Given the description of an element on the screen output the (x, y) to click on. 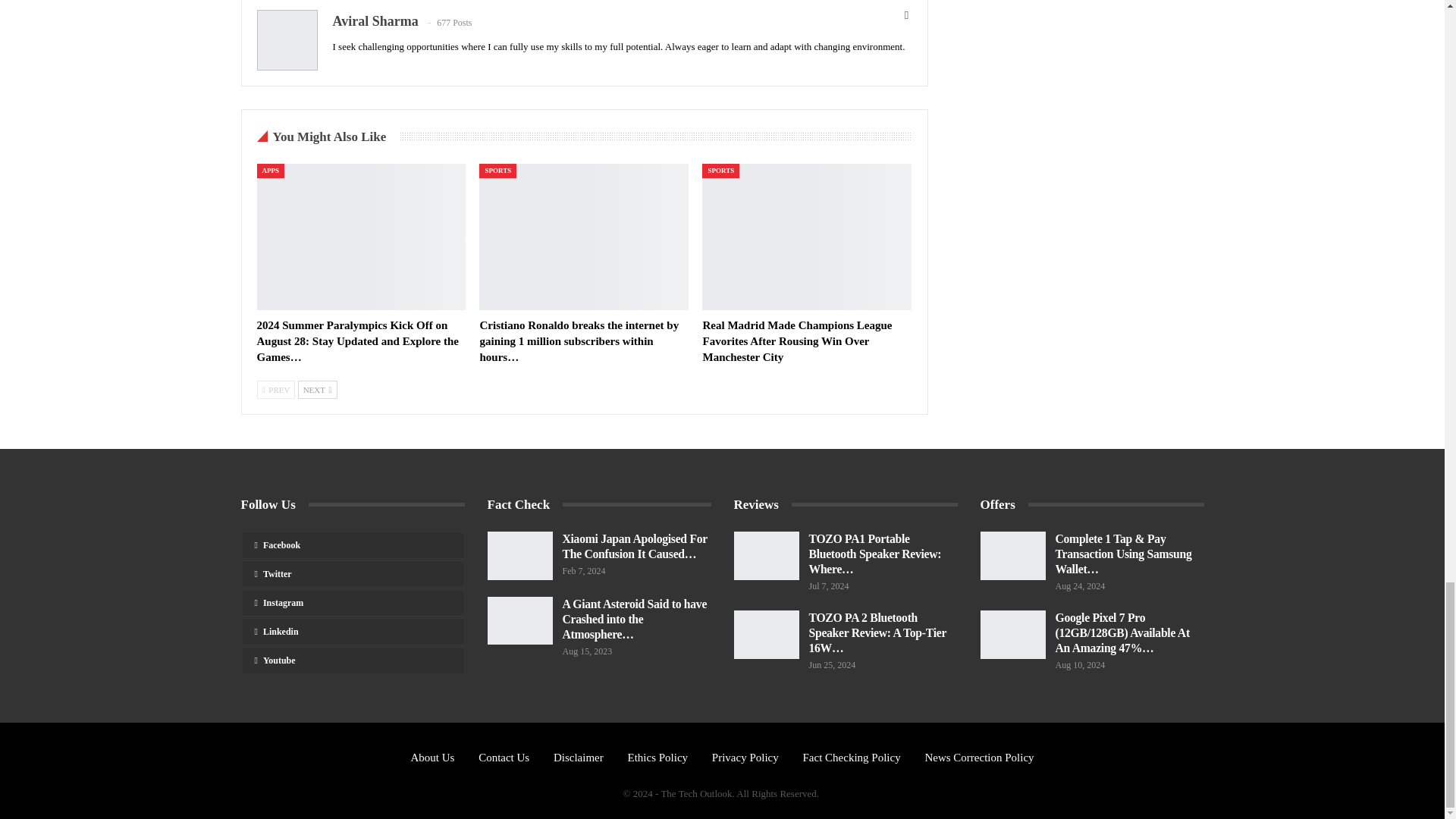
Previous (275, 389)
